Given the description of an element on the screen output the (x, y) to click on. 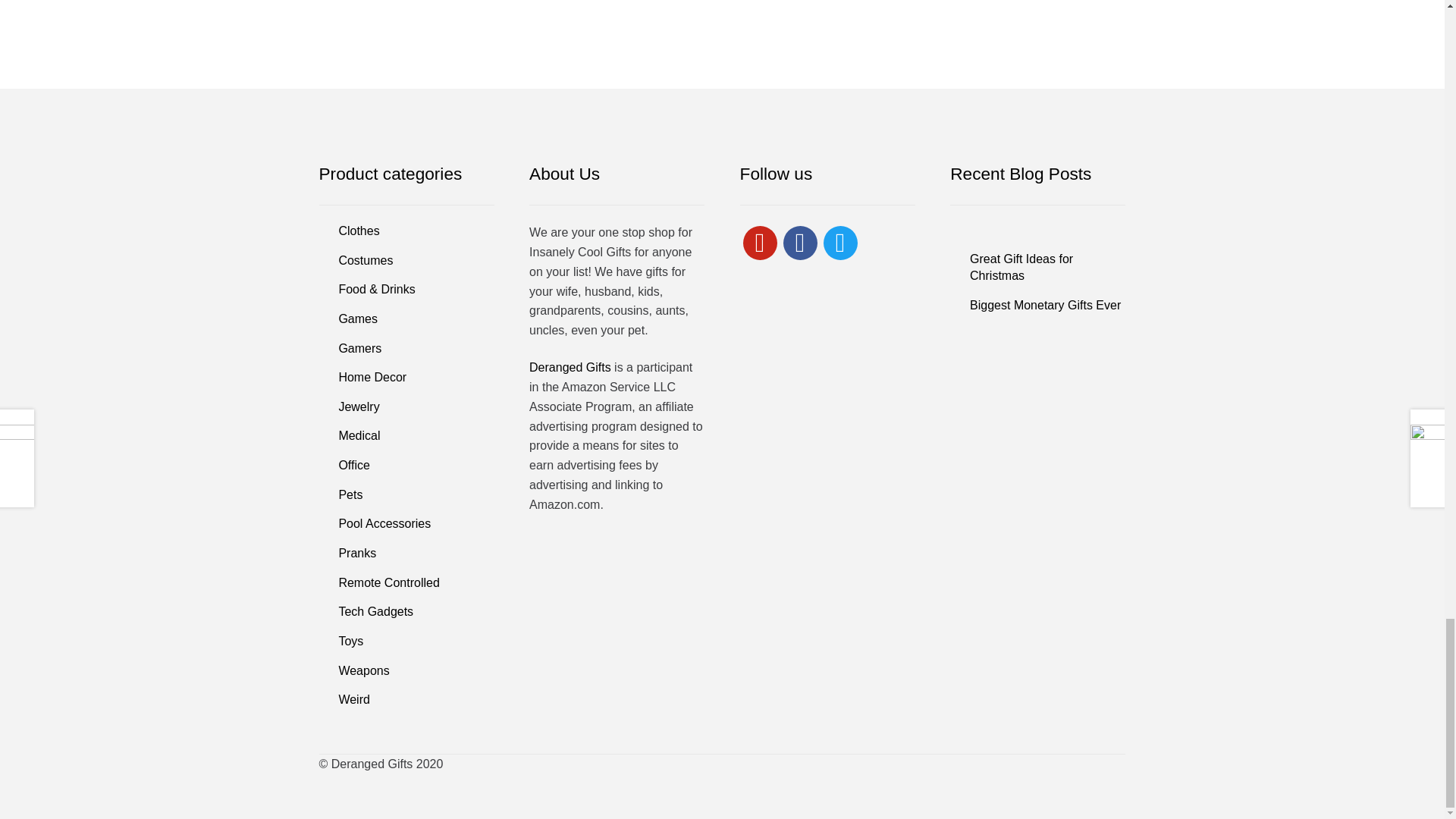
Twitter (840, 241)
Default Label (759, 241)
Facebook (799, 241)
